Given the description of an element on the screen output the (x, y) to click on. 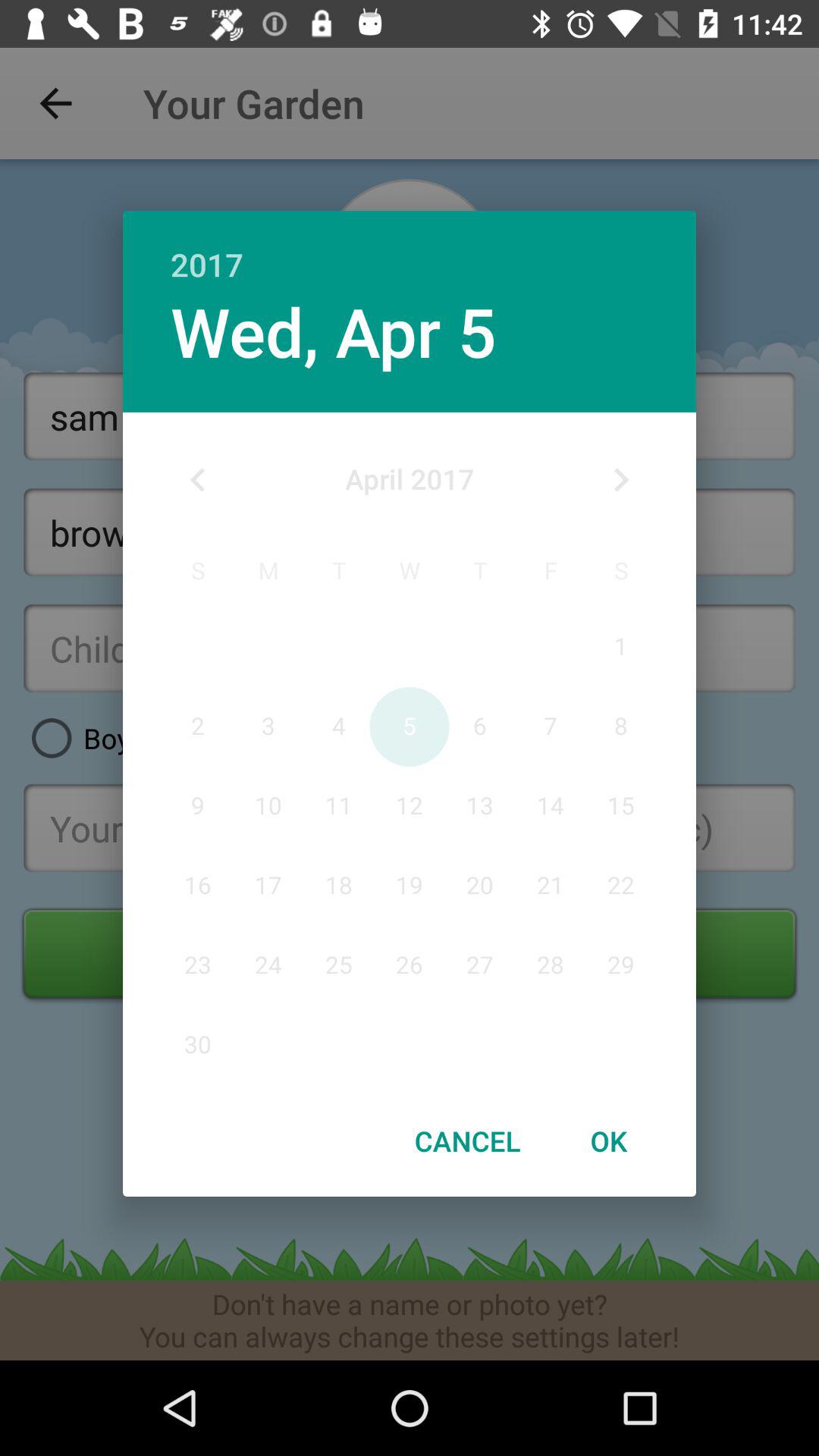
turn off item below the 2017 icon (620, 479)
